Given the description of an element on the screen output the (x, y) to click on. 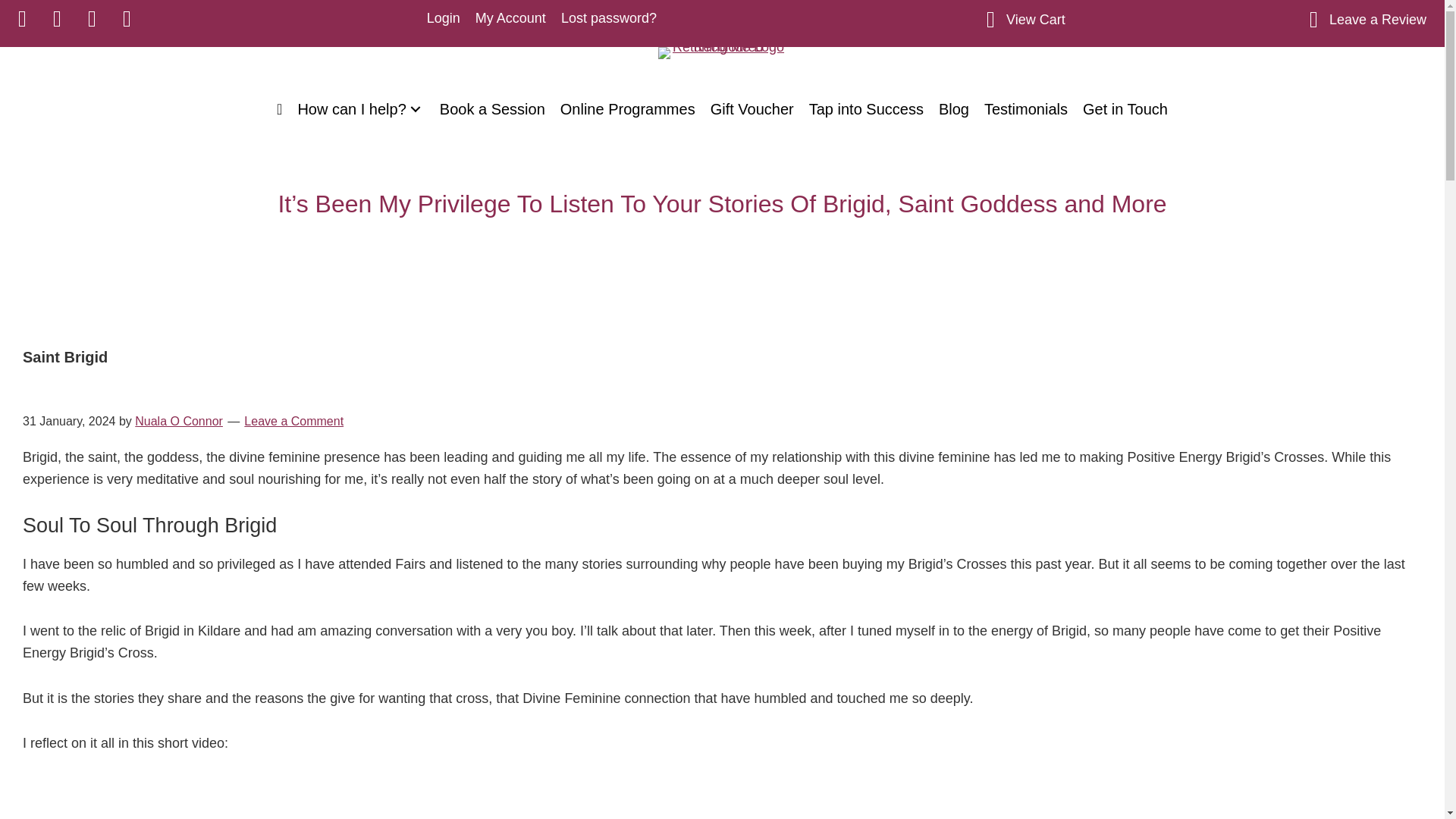
Lost password? (608, 18)
Retuning Me Logo Recoloured (722, 52)
Gift Voucher (752, 109)
Get in Touch (1124, 109)
Nuala O Connor (178, 420)
Testimonials (1025, 109)
Leave a Comment (293, 420)
Book a Session (492, 109)
Online Programmes (628, 109)
View Cart (1035, 20)
